Given the description of an element on the screen output the (x, y) to click on. 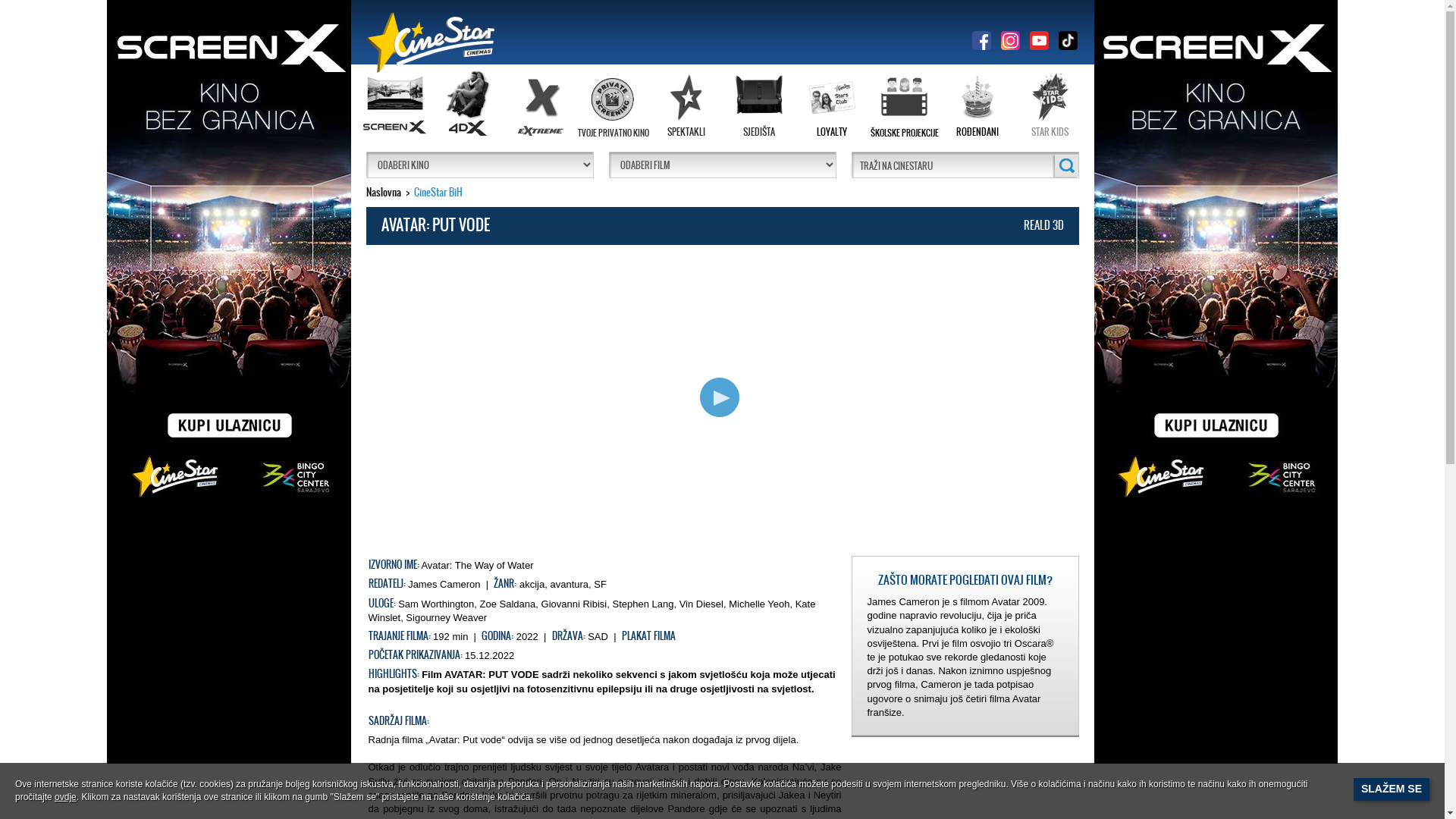
Naslovna Element type: text (382, 192)
Michelle Yeoh Element type: text (758, 603)
Vin Diesel Element type: text (701, 603)
PLAKAT FILMA Element type: text (648, 635)
Youtube Element type: hover (1038, 39)
REALD 3D Element type: text (1043, 224)
Stephen Lang Element type: text (642, 603)
SAD Element type: text (597, 636)
Tik Tok Element type: hover (1067, 39)
TVOJE PRIVATNO KINO Element type: text (612, 107)
Kate Winslet Element type: text (591, 610)
avantura Element type: text (568, 583)
James Cameron Element type: text (443, 583)
LOYALTY Element type: text (830, 107)
CineStar BiH Element type: text (438, 192)
Facebook Element type: hover (980, 39)
STAR KIDS Element type: text (1049, 107)
Sigourney Weaver Element type: text (445, 617)
ovdje Element type: text (65, 796)
akcija Element type: text (531, 583)
Instagram Element type: hover (1009, 39)
SF Element type: text (599, 583)
Zoe Saldana Element type: text (508, 603)
Sam Worthington Element type: text (435, 603)
Giovanni Ribisi Element type: text (574, 603)
SPEKTAKLI Element type: text (685, 107)
  Element type: text (721, 397)
